Given the description of an element on the screen output the (x, y) to click on. 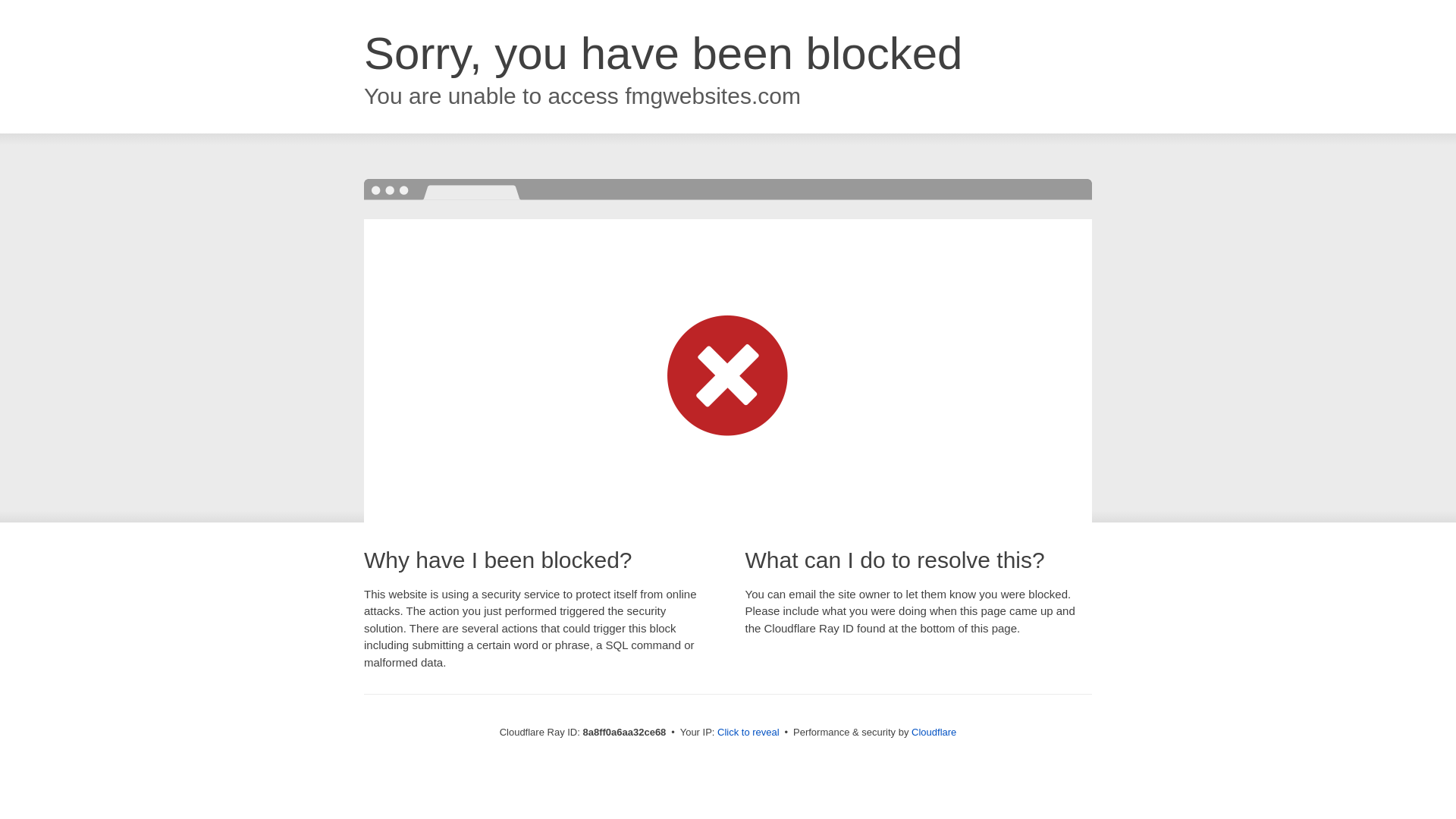
Click to reveal (747, 732)
Cloudflare (933, 731)
